Given the description of an element on the screen output the (x, y) to click on. 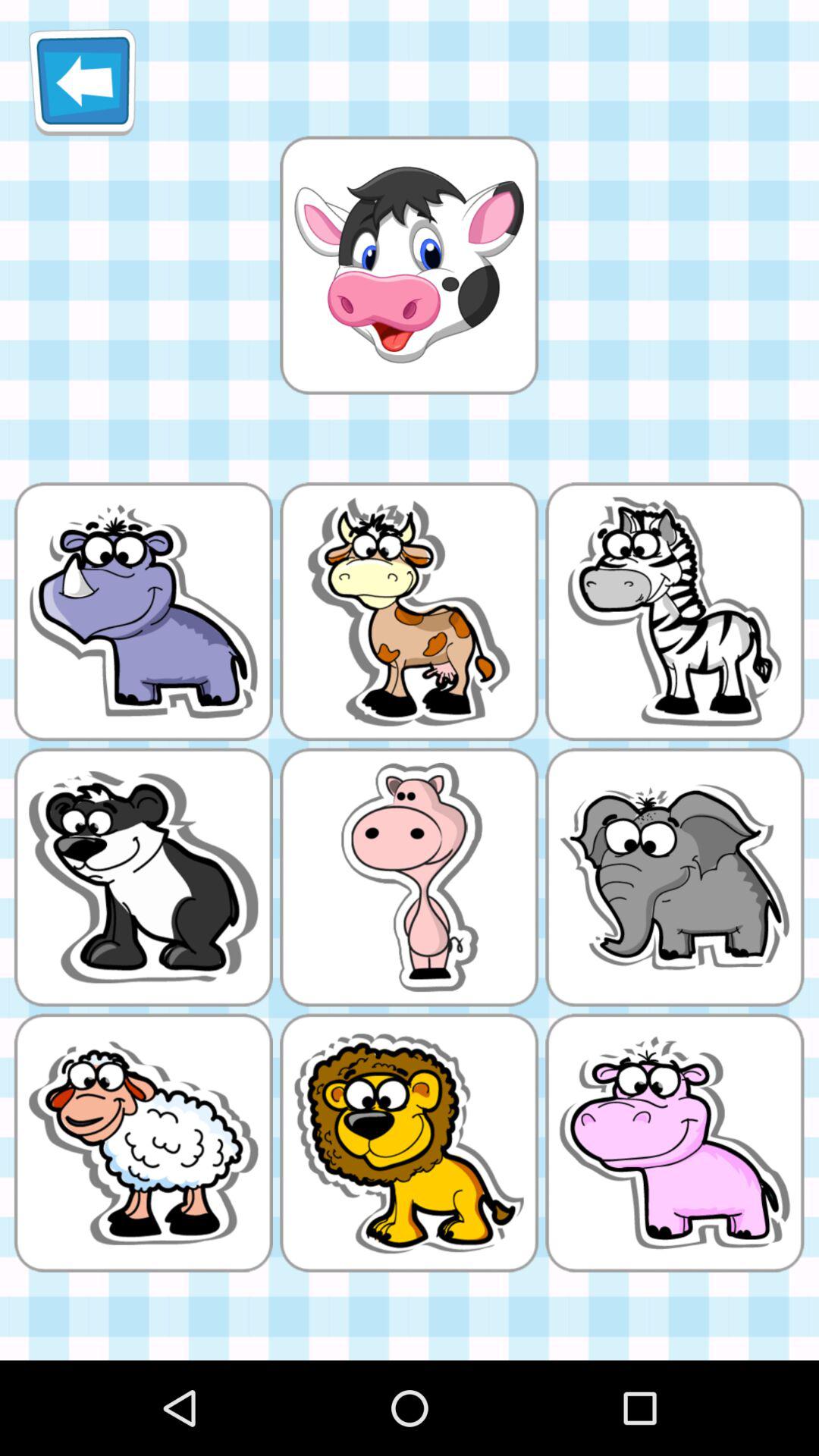
select cow (409, 264)
